Given the description of an element on the screen output the (x, y) to click on. 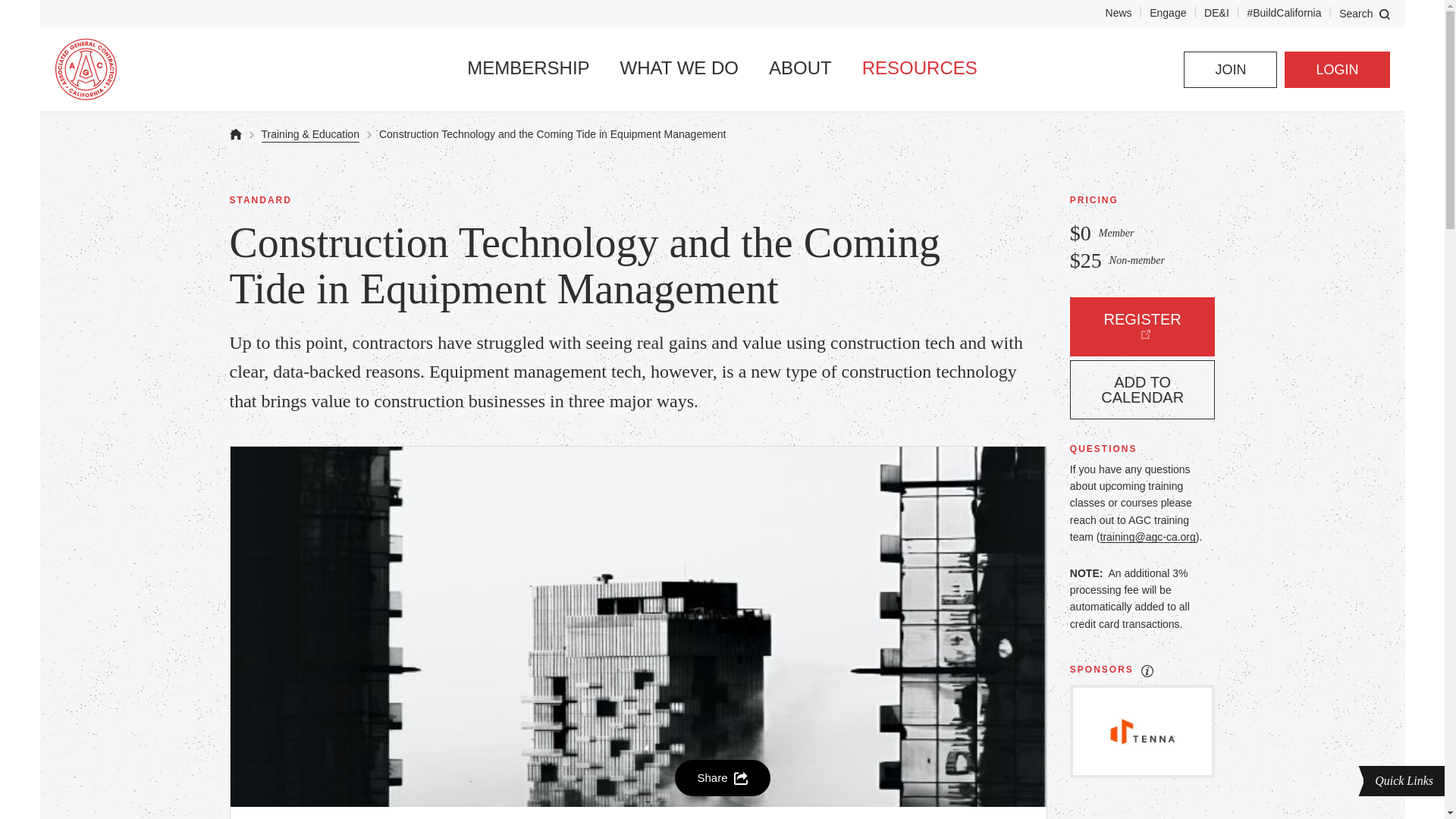
JOIN (1229, 69)
News (1118, 12)
Engage (1168, 12)
ABOUT (799, 67)
WHAT WE DO (679, 67)
MEMBERSHIP (528, 67)
LOGIN (1336, 69)
Search (1364, 12)
